Given the description of an element on the screen output the (x, y) to click on. 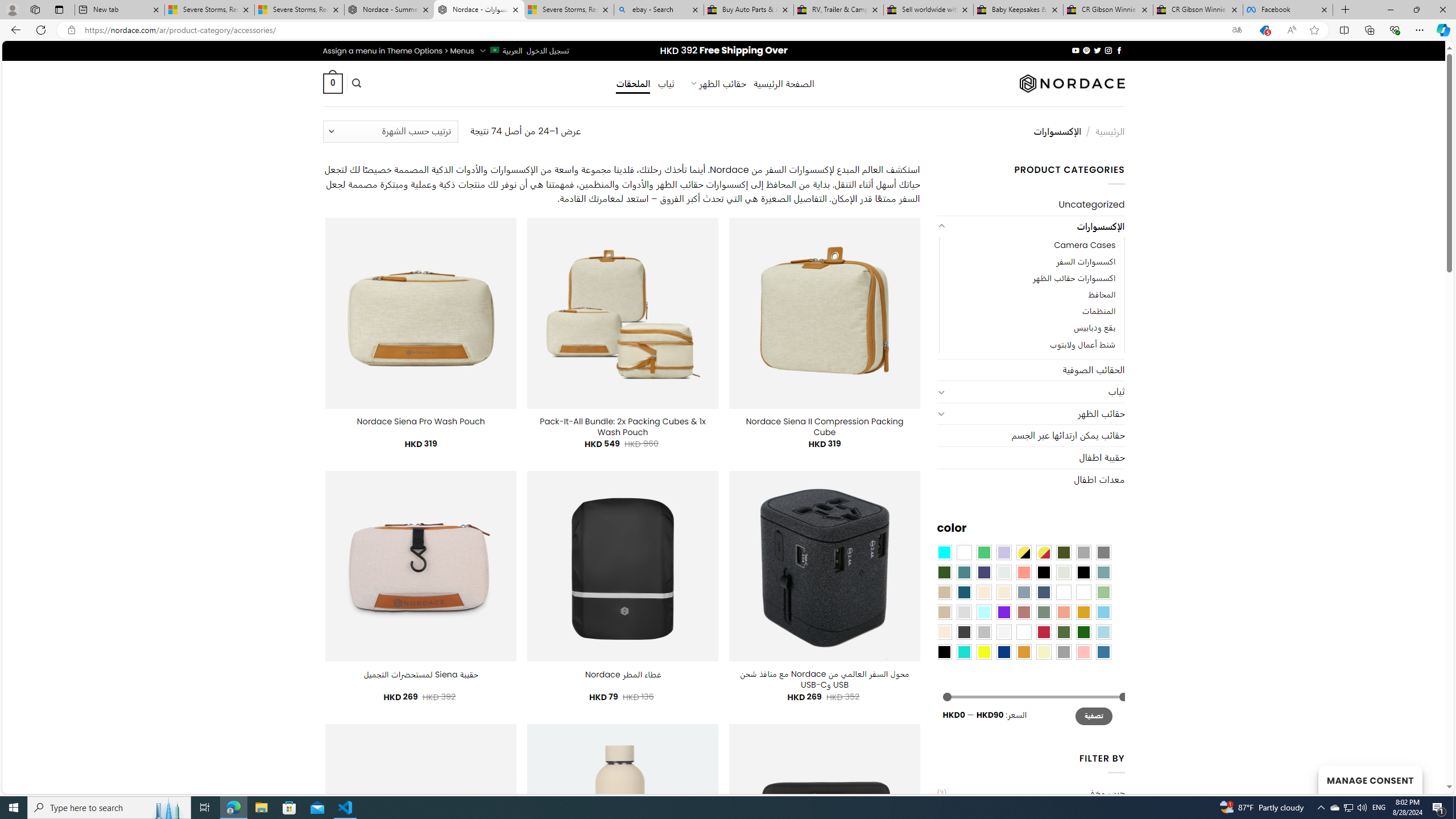
New tab (118, 9)
Teal (963, 572)
Copilot (Ctrl+Shift+.) (1442, 29)
Add this page to favorites (Ctrl+D) (1314, 29)
All Black (1043, 572)
Follow on Facebook (1118, 50)
Follow on Pinterest (1086, 50)
Mint (983, 611)
